Given the description of an element on the screen output the (x, y) to click on. 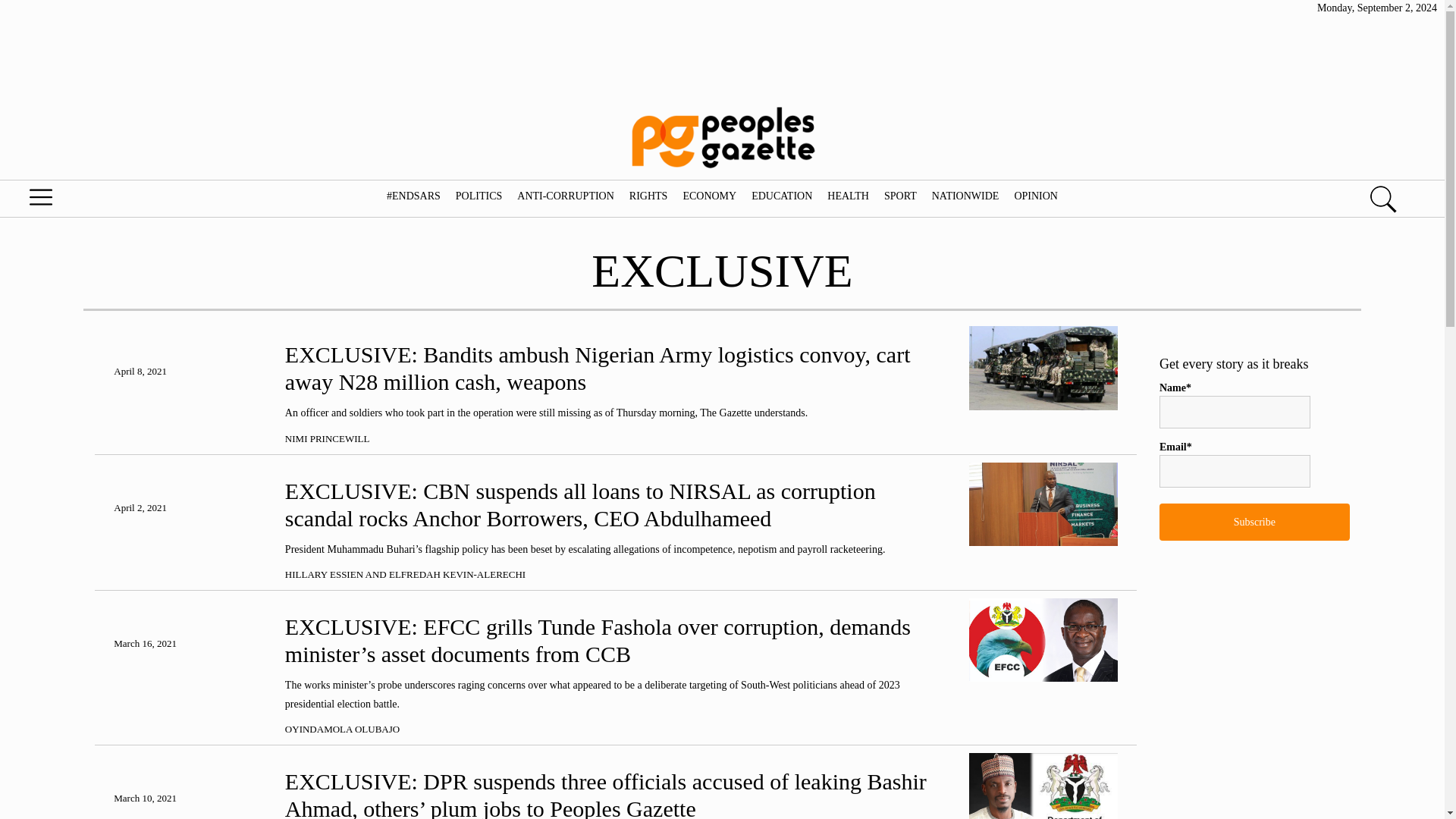
Subscribe (1253, 521)
HEALTH (848, 195)
Posts by Nimi Princewill (327, 438)
POLITICS (478, 195)
EDUCATION (781, 195)
NATIONWIDE (965, 195)
RIGHTS (648, 195)
Menu (76, 200)
Posts by HILLARY ESSIEN (323, 573)
ANTI-CORRUPTION (565, 195)
